Given the description of an element on the screen output the (x, y) to click on. 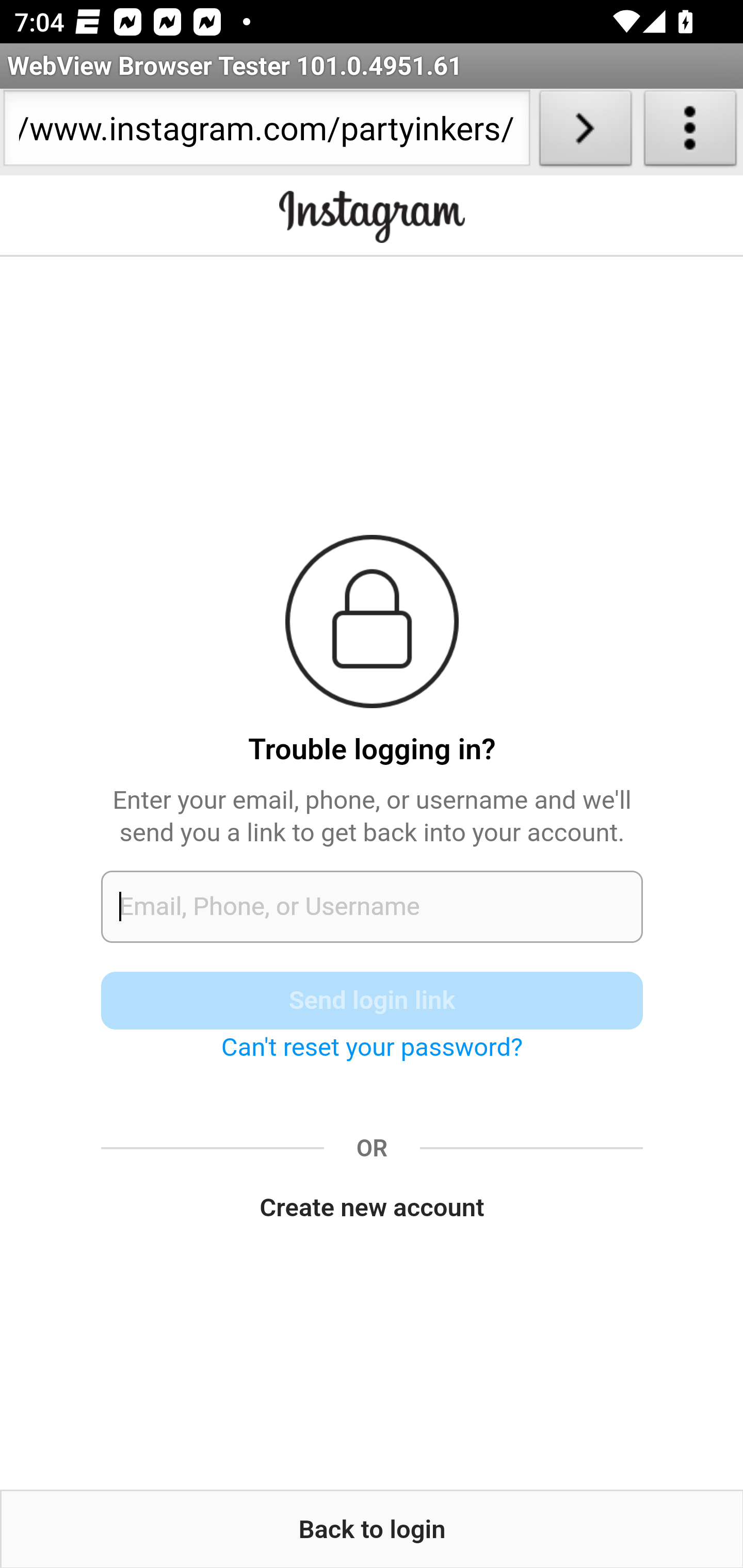
https://www.instagram.com/partyinkers/ (266, 132)
Load URL (585, 132)
About WebView (690, 132)
Send login link (372, 1000)
Can't reset your password? (371, 1046)
Create new account (372, 1208)
Back to login (371, 1529)
